Given the description of an element on the screen output the (x, y) to click on. 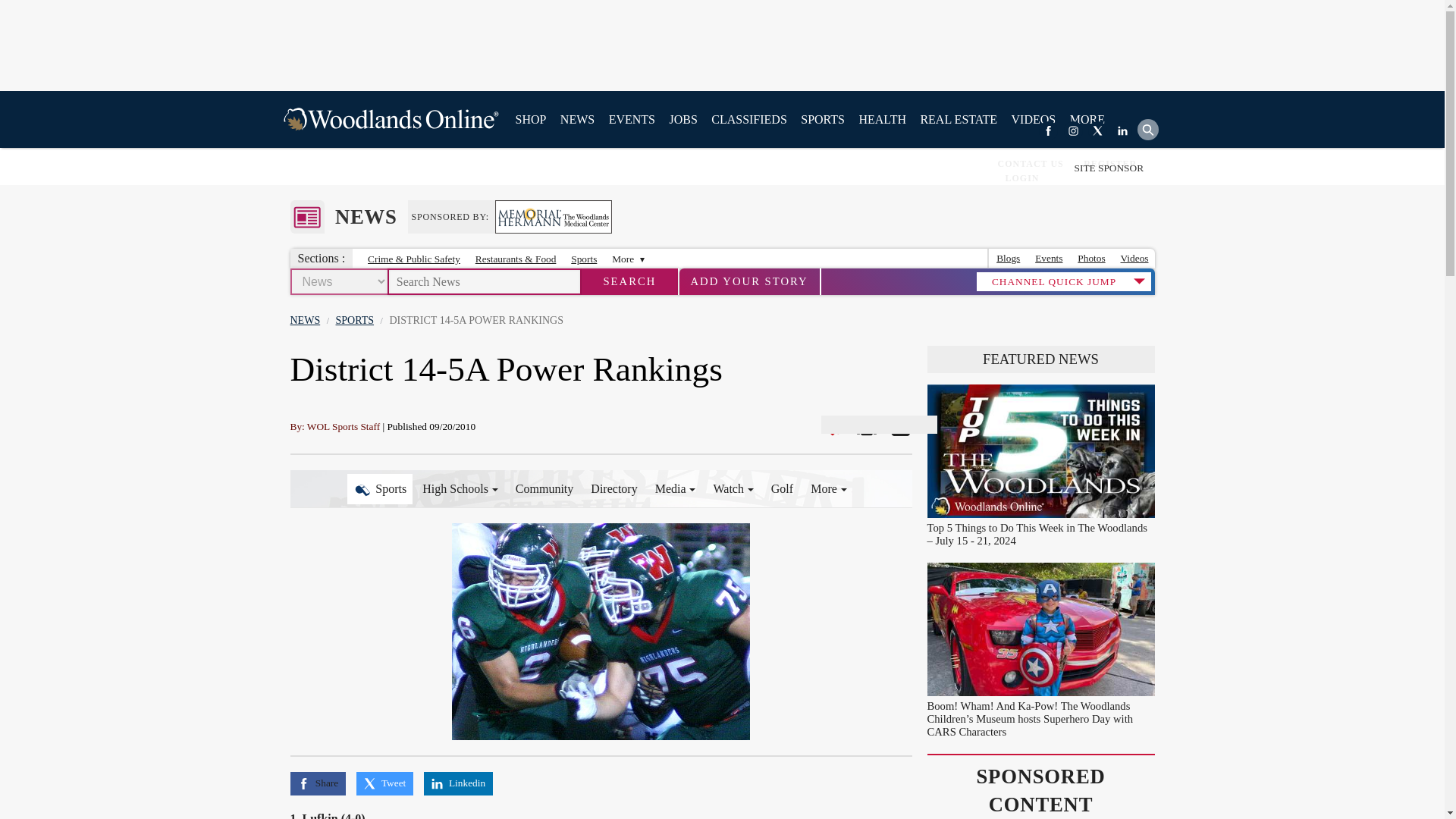
Search (629, 281)
